Given the description of an element on the screen output the (x, y) to click on. 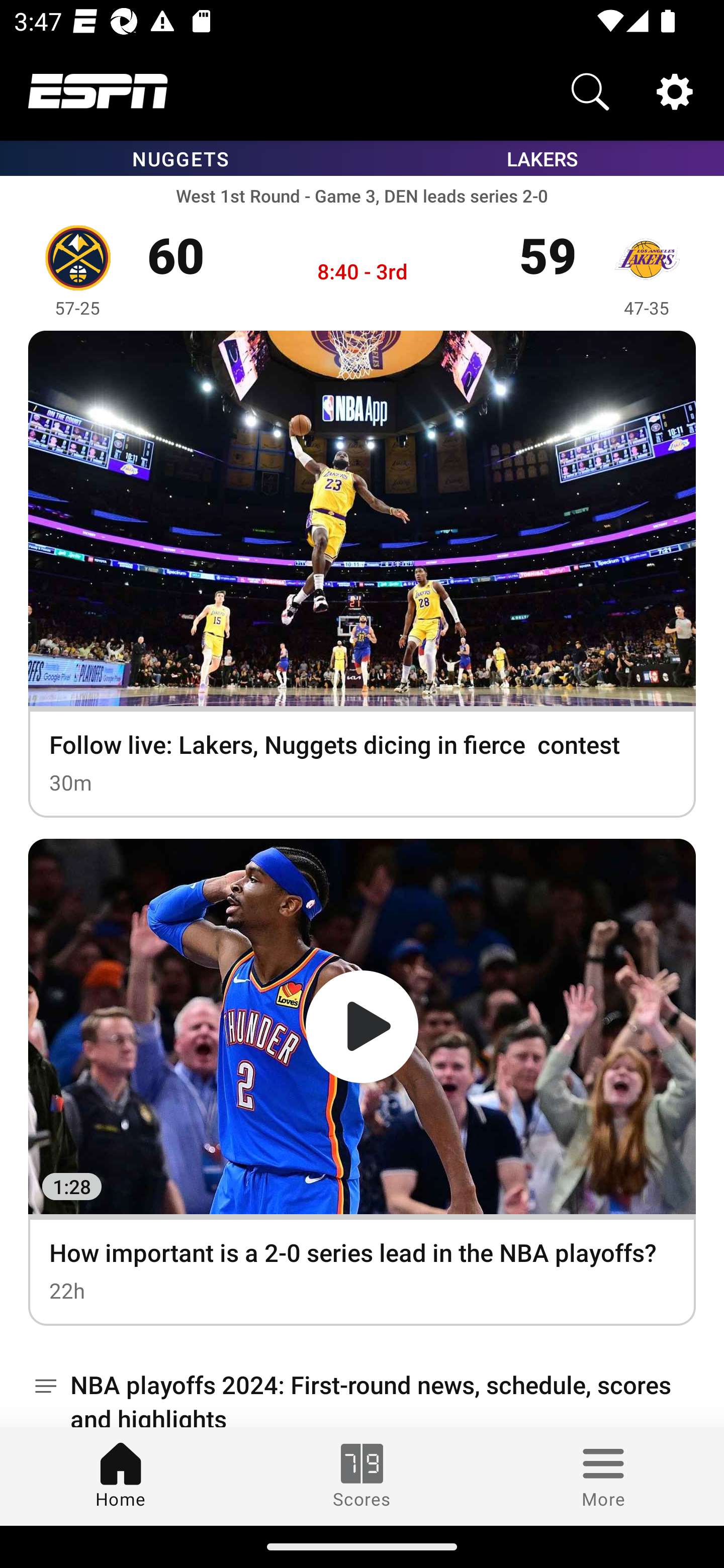
Search (590, 90)
Settings (674, 90)
Scores (361, 1475)
More (603, 1475)
